Given the description of an element on the screen output the (x, y) to click on. 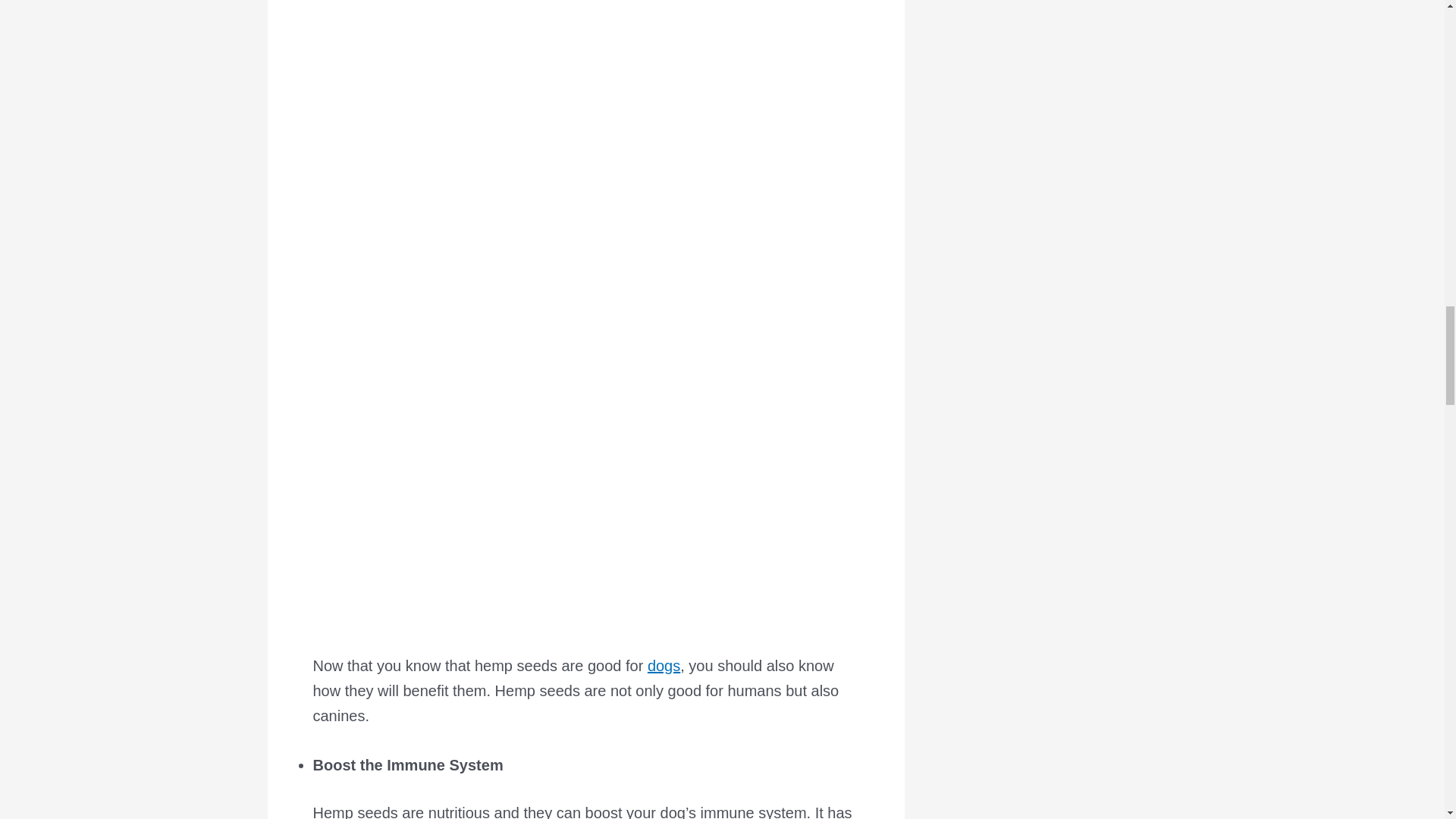
dogs (663, 665)
